Given the description of an element on the screen output the (x, y) to click on. 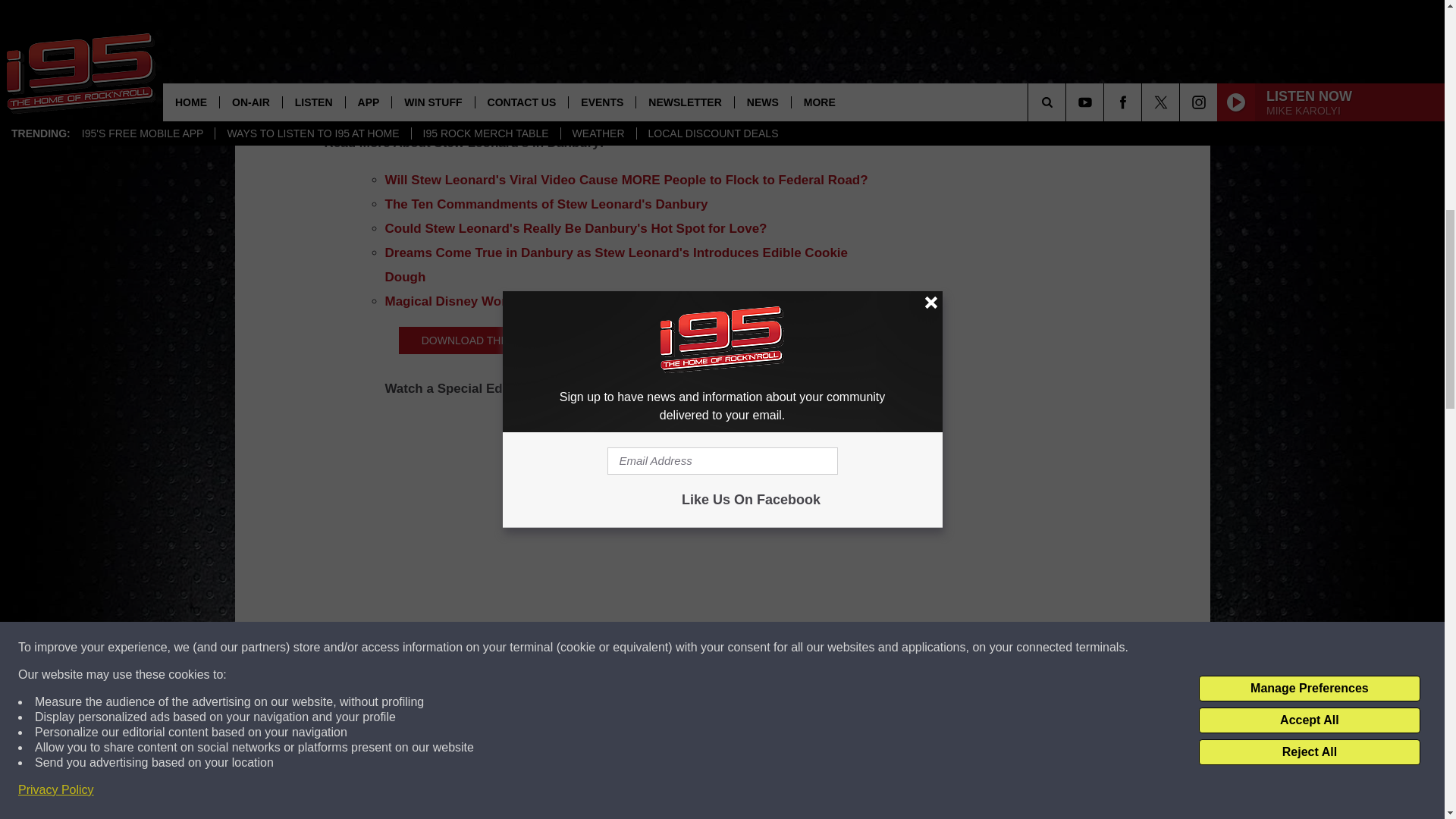
Stew Leonard's (500, 65)
